Given the description of an element on the screen output the (x, y) to click on. 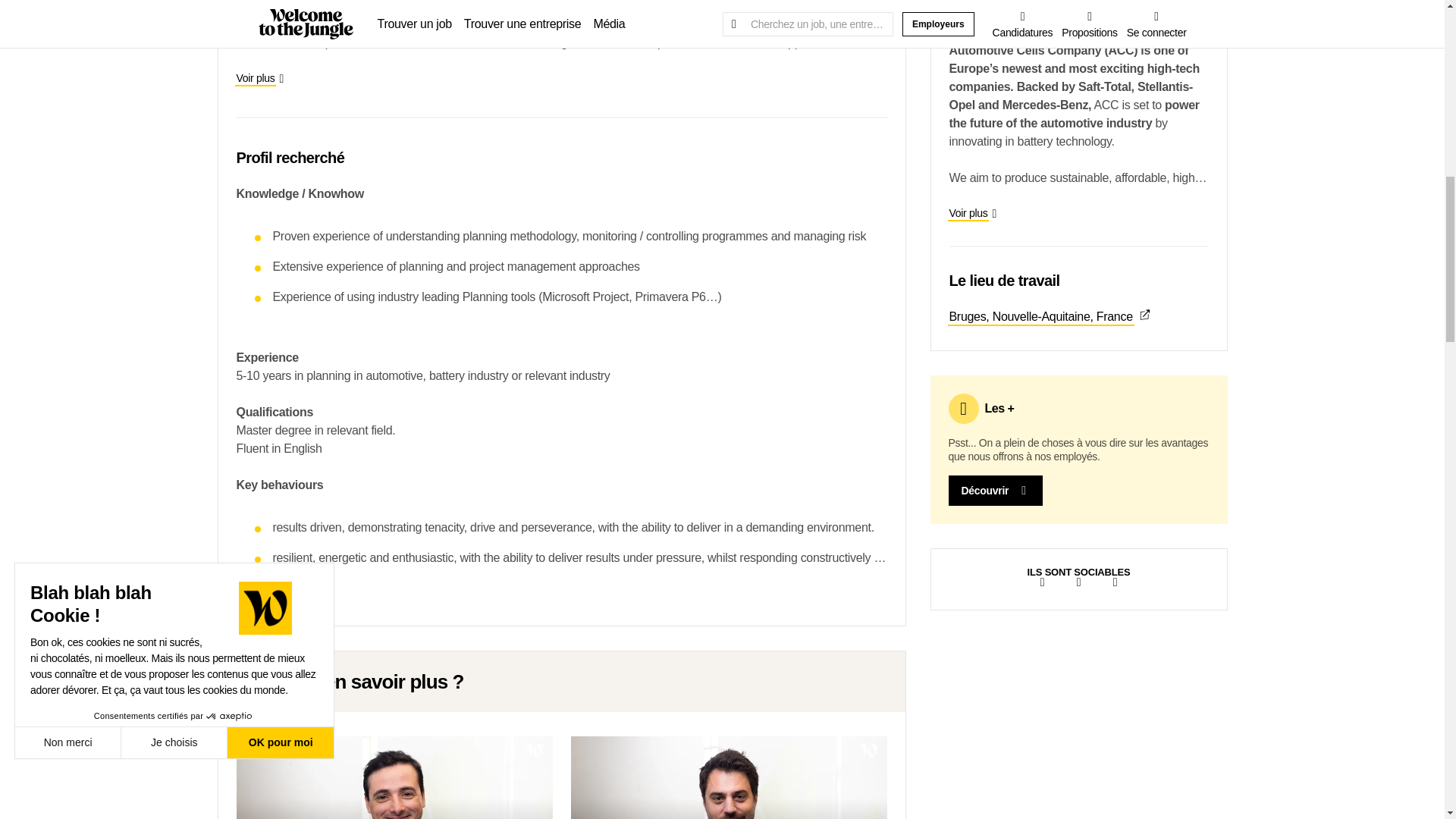
Voir plus (973, 213)
Voir plus (259, 593)
Voir plus (259, 78)
Bruges, Nouvelle-Aquitaine, France (1078, 316)
